Given the description of an element on the screen output the (x, y) to click on. 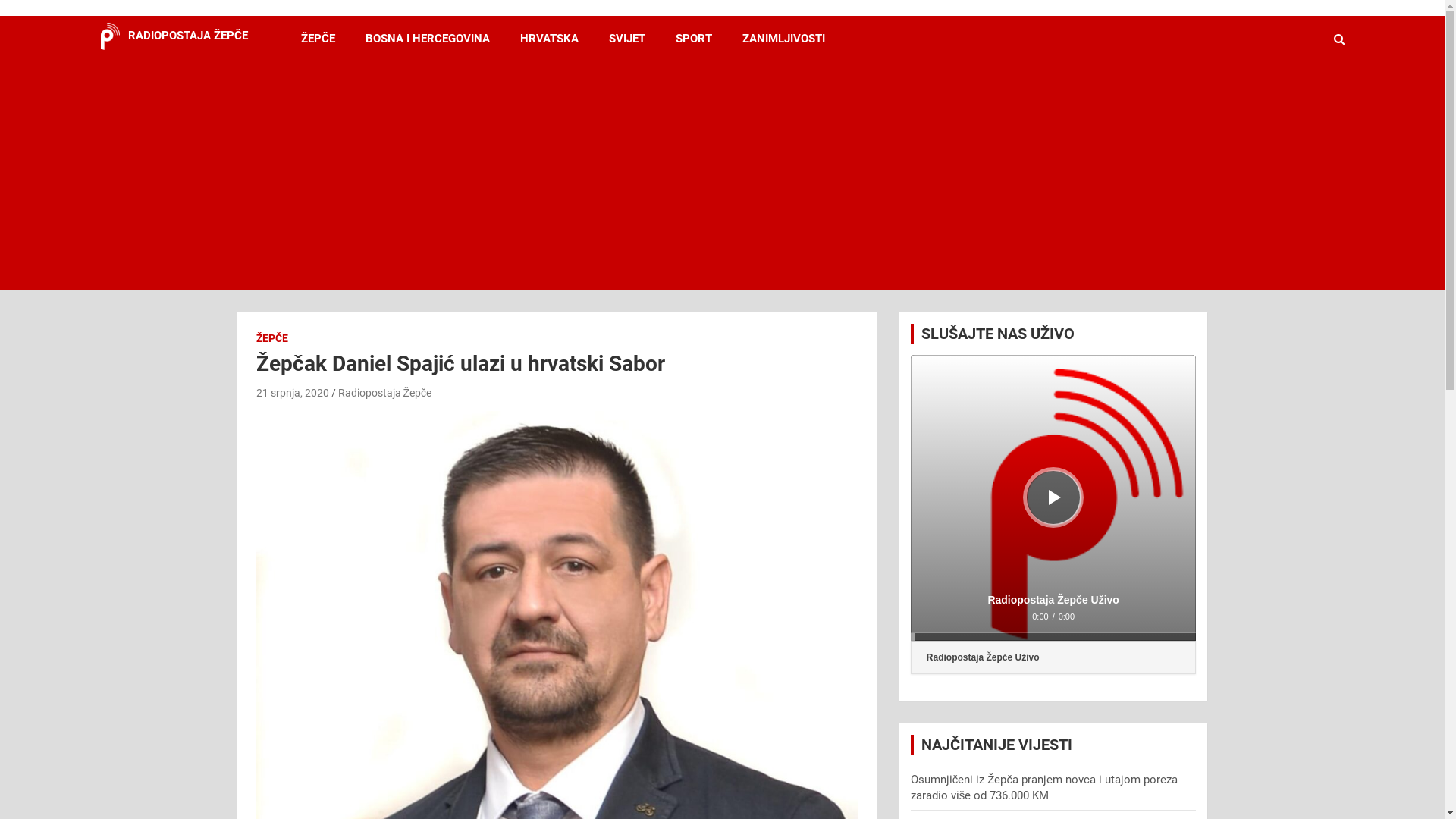
BOSNA I HERCEGOVINA Element type: text (427, 38)
Skip to content Element type: text (0, 0)
SPORT Element type: text (692, 38)
Pokreni Element type: hover (1054, 497)
HRVATSKA Element type: text (549, 38)
Advertisement Element type: hover (701, 175)
SVIJET Element type: text (626, 38)
ZANIMLJIVOSTI Element type: text (782, 38)
21 srpnja, 2020 Element type: text (292, 392)
